Given the description of an element on the screen output the (x, y) to click on. 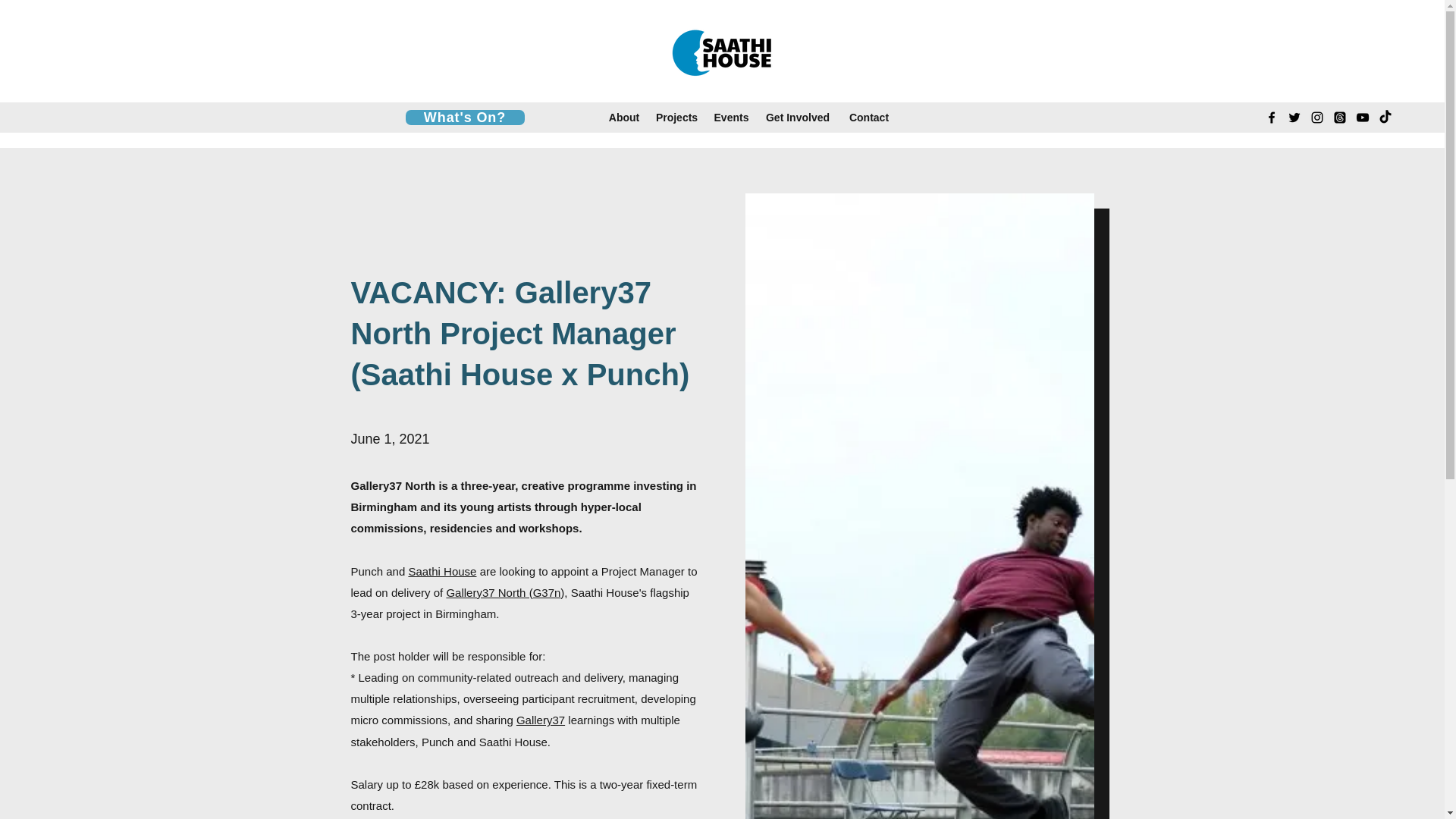
Get Involved (797, 117)
Gallery37 (540, 719)
Contact (868, 117)
Saathi House (441, 570)
Projects (676, 117)
Events (731, 117)
What's On? (464, 117)
